Given the description of an element on the screen output the (x, y) to click on. 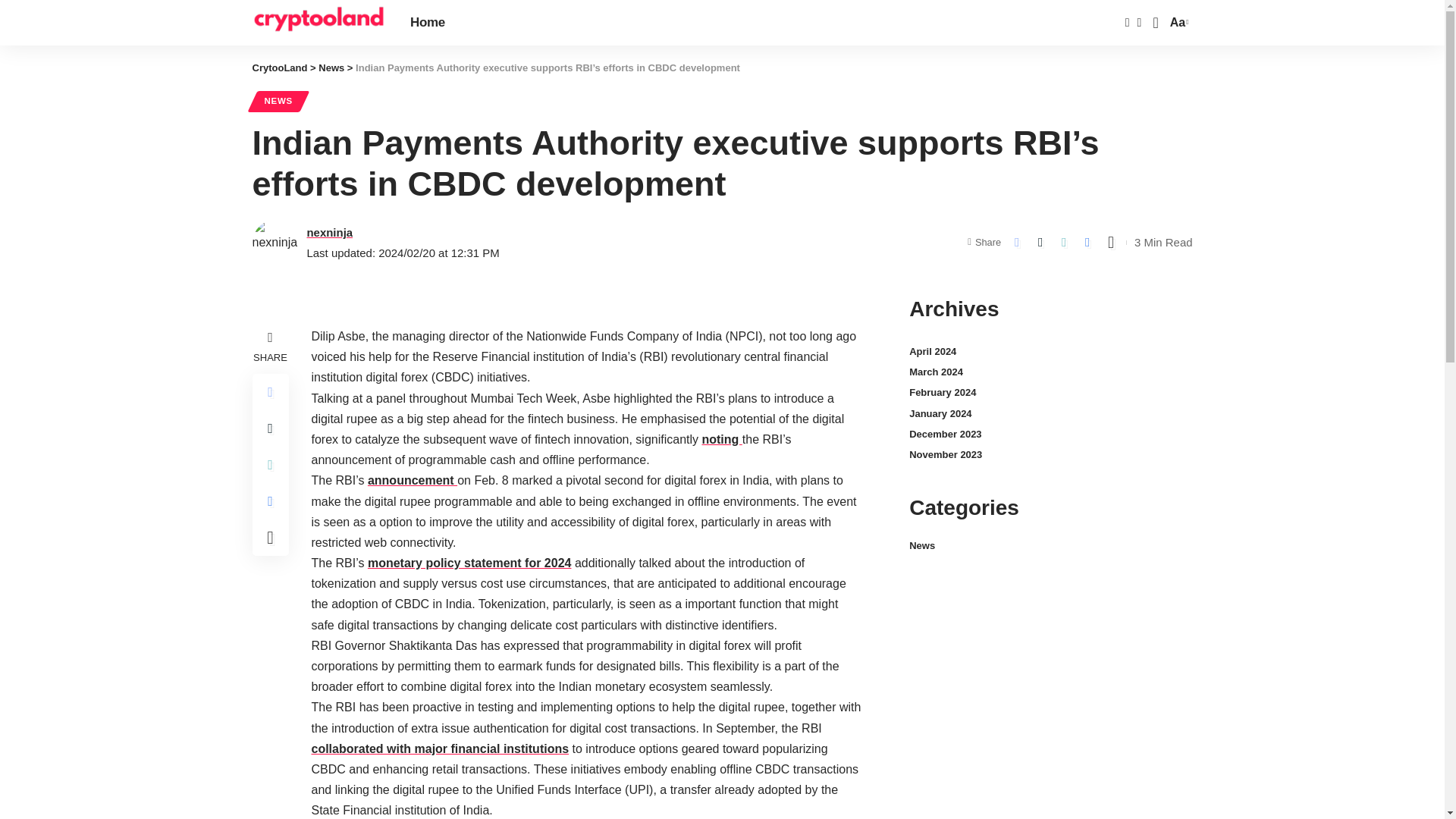
Go to CrytooLand. (279, 67)
CrytooLand (279, 67)
Go to the News Category archives. (330, 67)
announcement (412, 480)
CrytooLand (318, 22)
News (330, 67)
Home (427, 22)
collaborated with major financial institutions (440, 748)
monetary policy statement for 2024 (470, 562)
noting (721, 439)
